Given the description of an element on the screen output the (x, y) to click on. 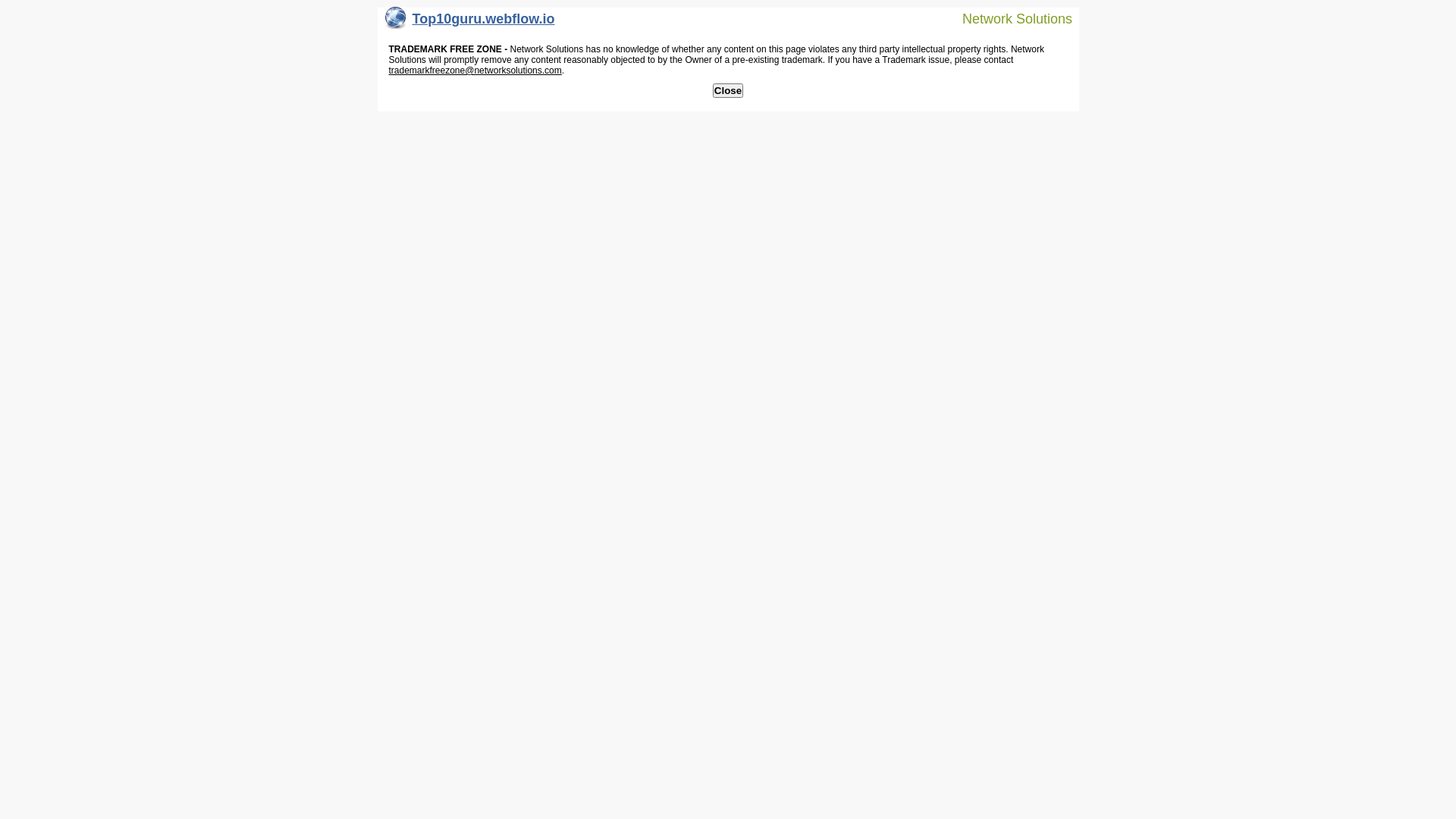
trademarkfreezone@networksolutions.com Element type: text (474, 70)
Close Element type: text (727, 90)
Network Solutions Element type: text (1007, 17)
Top10guru.webflow.io Element type: text (470, 21)
